Given the description of an element on the screen output the (x, y) to click on. 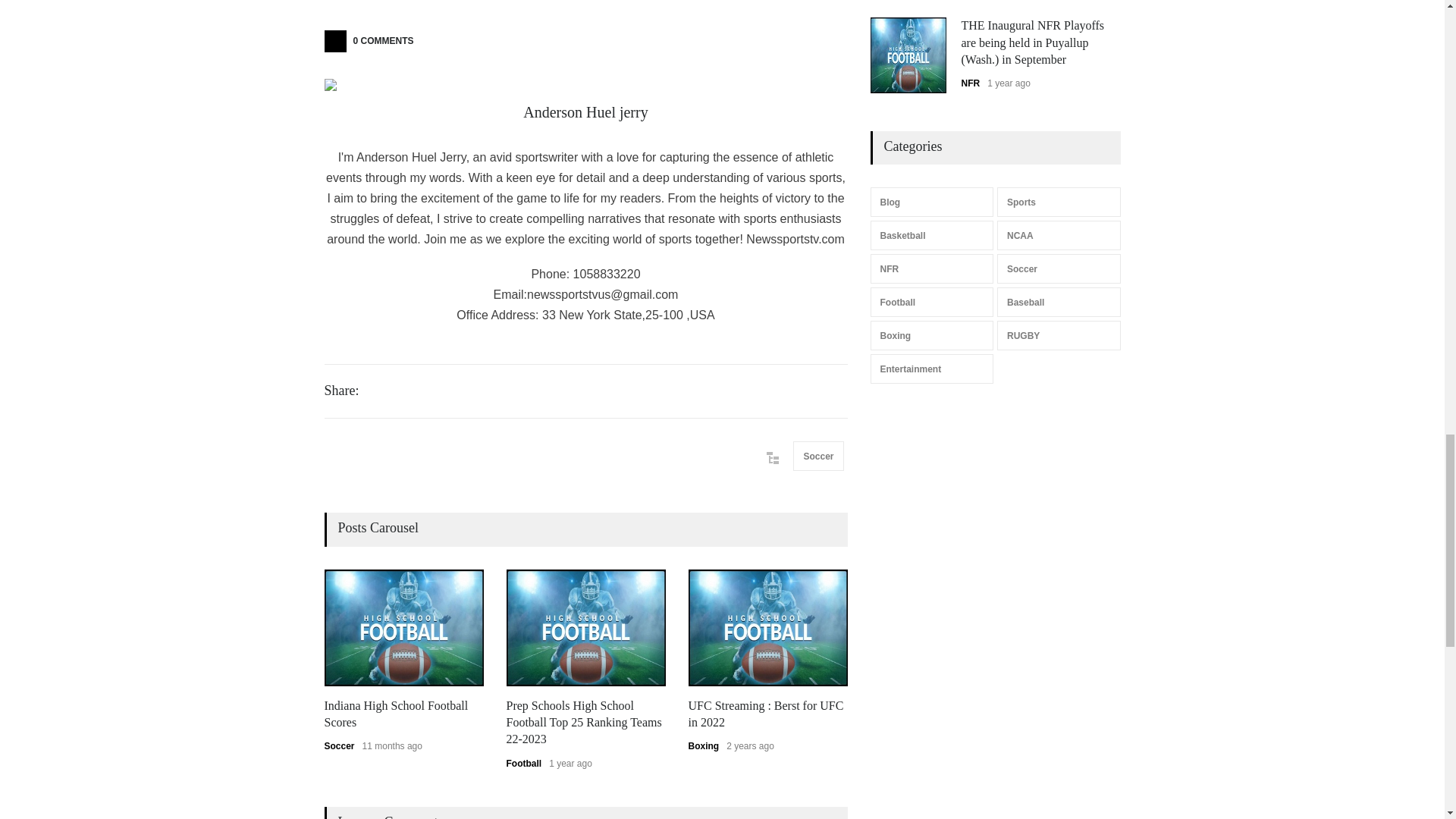
0 COMMENTS (373, 41)
